Given the description of an element on the screen output the (x, y) to click on. 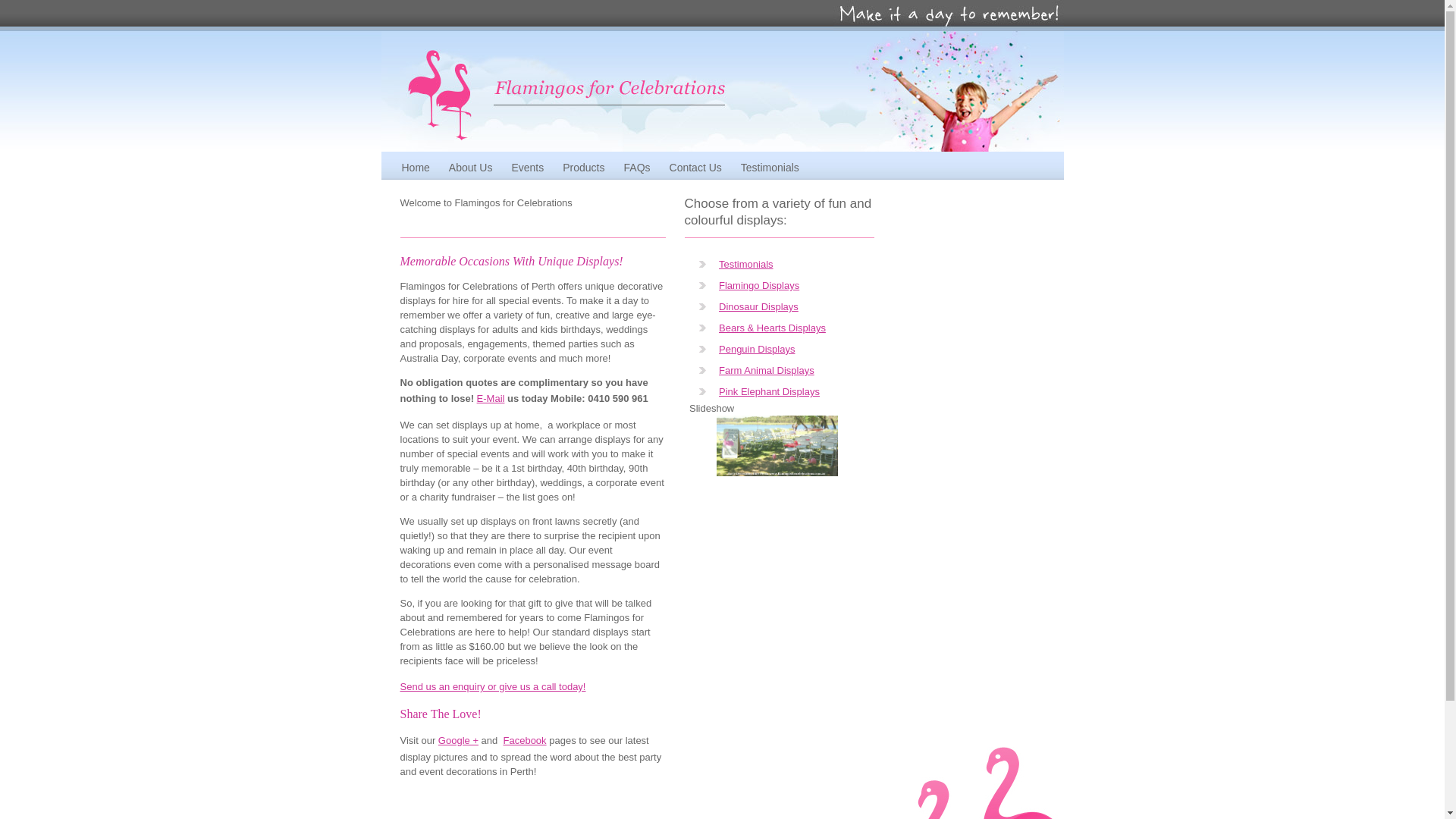
Testimonials Element type: text (769, 167)
Home Element type: text (415, 167)
About Us Element type: text (470, 167)
Dinosaur Displays Element type: text (758, 306)
Facebook Element type: text (524, 740)
Pink Elephant Displays Element type: text (768, 391)
E-Mail Element type: text (490, 398)
Farm Animal Displays Element type: text (766, 370)
Products Element type: text (583, 167)
Events Element type: text (527, 167)
Testimonials Element type: text (745, 263)
Flamingo Displays Element type: text (758, 285)
Google + Element type: text (458, 740)
Send us an enquiry or give us a call today! Element type: text (493, 686)
FAQs Element type: text (637, 167)
Penguin Displays Element type: text (756, 348)
Bears & Hearts Displays Element type: text (771, 327)
Find out what you can do for your Special Occasion Element type: hover (947, 27)
Contact Us Element type: text (695, 167)
